Given the description of an element on the screen output the (x, y) to click on. 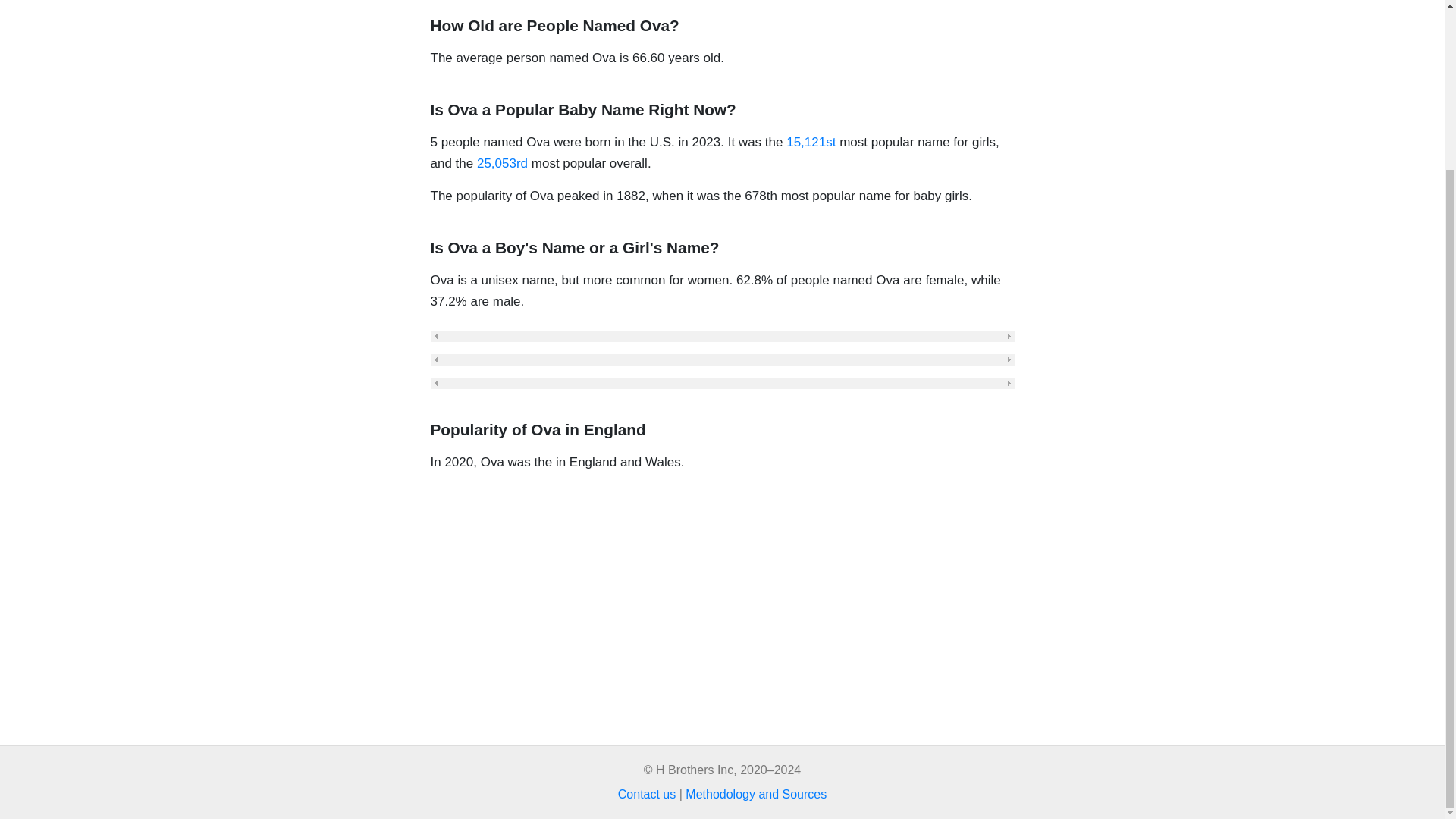
25,053rd (502, 163)
15,121st (810, 142)
Contact us (646, 793)
Methodology and Sources (756, 793)
